Given the description of an element on the screen output the (x, y) to click on. 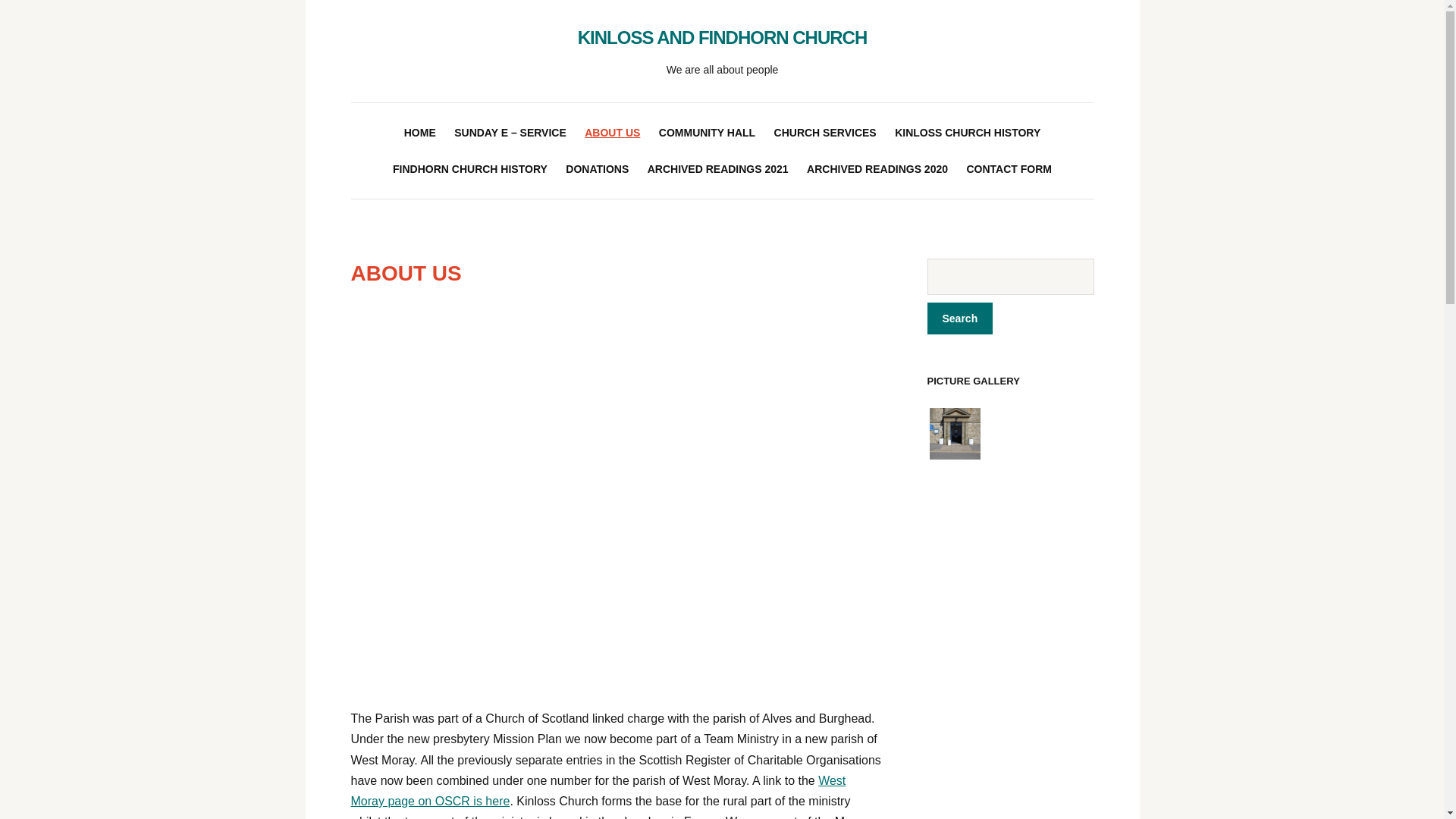
West Moray page on OSCR is here (597, 790)
ARCHIVED READINGS 2021 (718, 168)
KINLOSS AND FINDHORN CHURCH (722, 37)
HOME (420, 132)
Search (959, 318)
CONTACT FORM (1007, 168)
CHURCH SERVICES (825, 132)
ARCHIVED READINGS 2020 (877, 168)
Search (959, 318)
DONATIONS (597, 168)
